Given the description of an element on the screen output the (x, y) to click on. 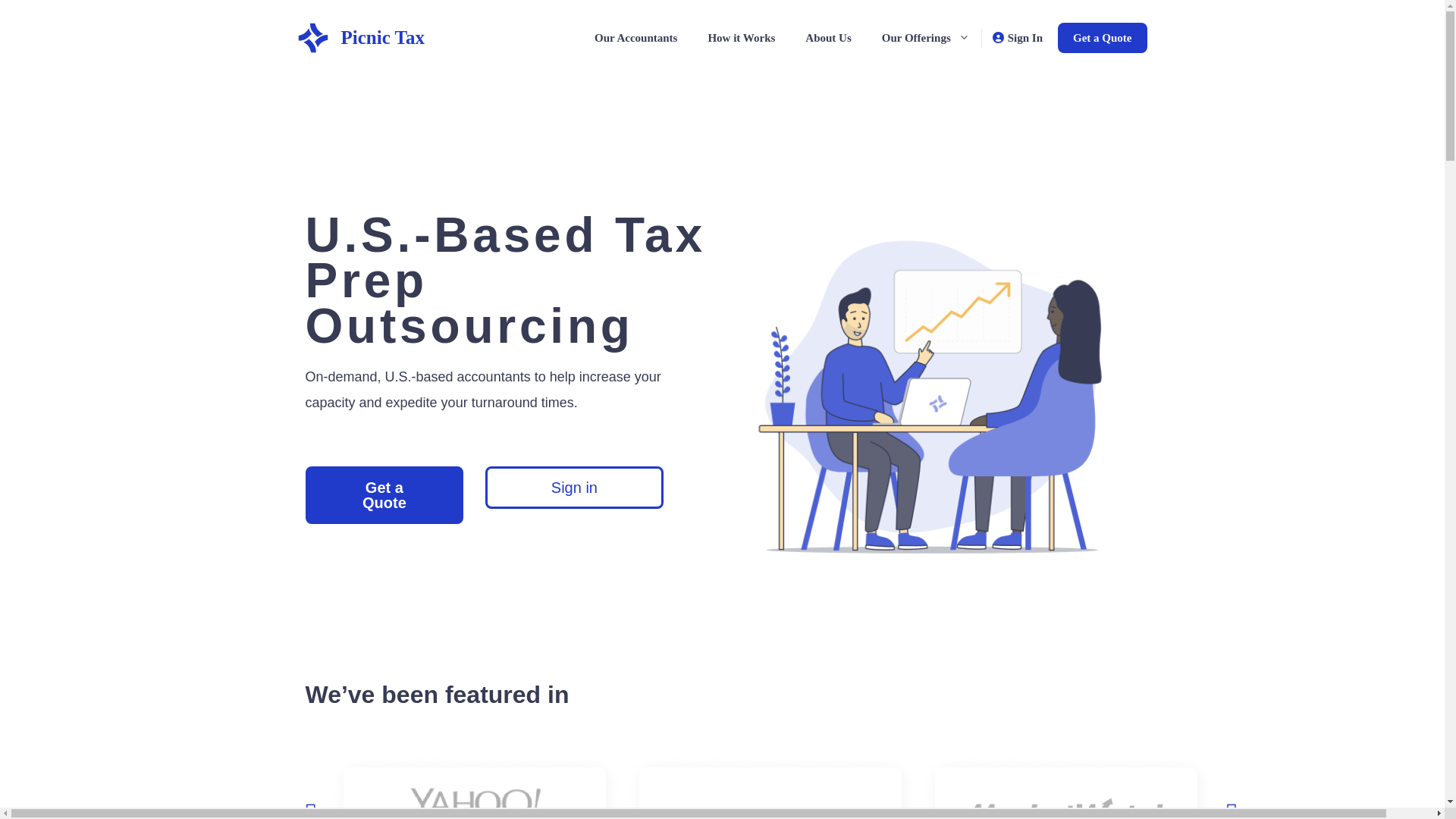
Picnic Tax (382, 37)
About Us (828, 37)
How it Works (741, 37)
Get a Quote (1102, 37)
Our Offerings (925, 37)
Picnic Tax (312, 37)
Sign in (573, 487)
Our Accountants (636, 37)
Picnic Tax (312, 36)
Sign In (1025, 37)
Get a Quote (383, 495)
